Given the description of an element on the screen output the (x, y) to click on. 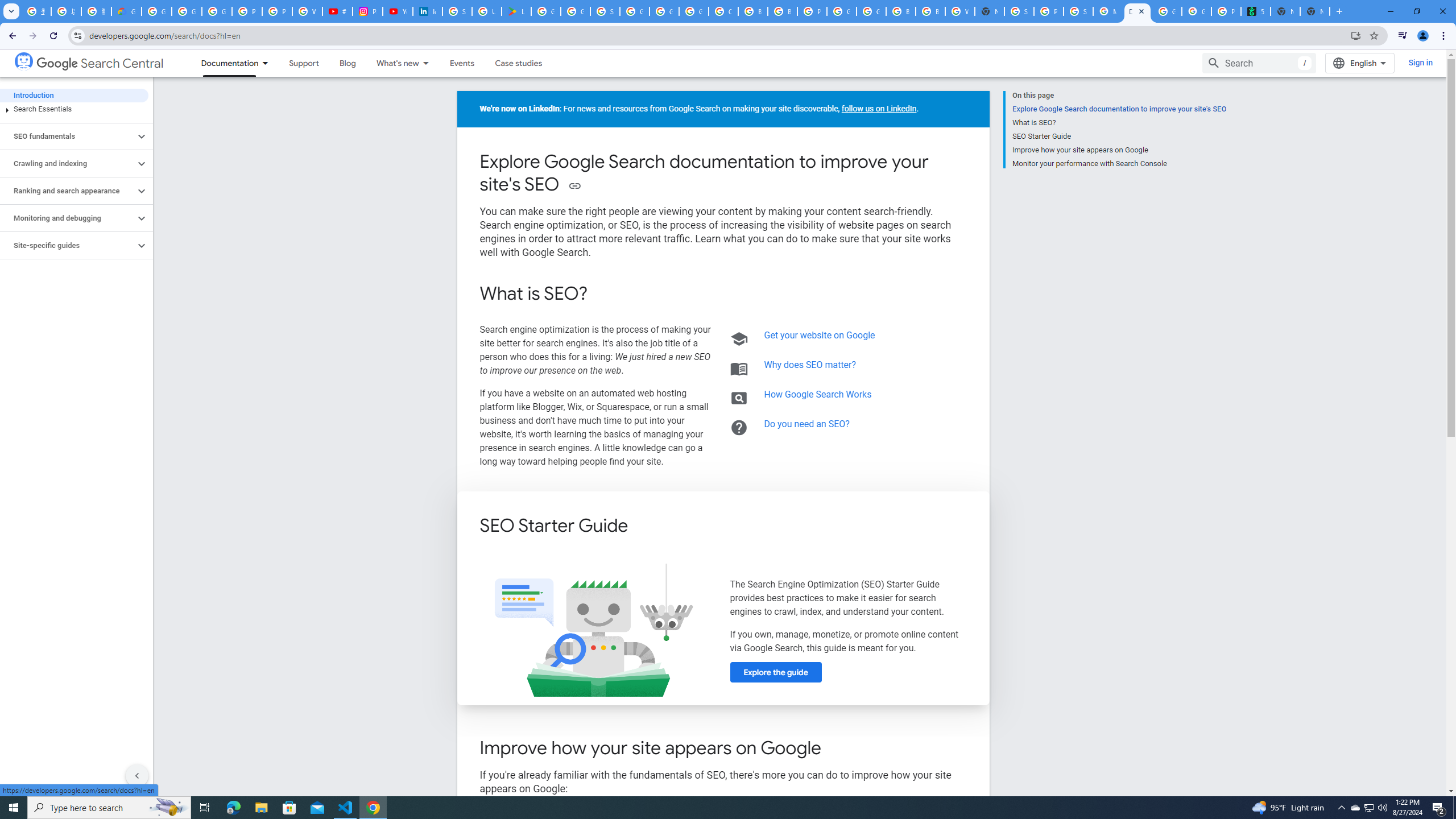
Copy link to this section: SEO Starter Guide  (643, 526)
Case studies (518, 62)
Dropdown menu for What's new (429, 62)
Search Essentials (74, 109)
